Given the description of an element on the screen output the (x, y) to click on. 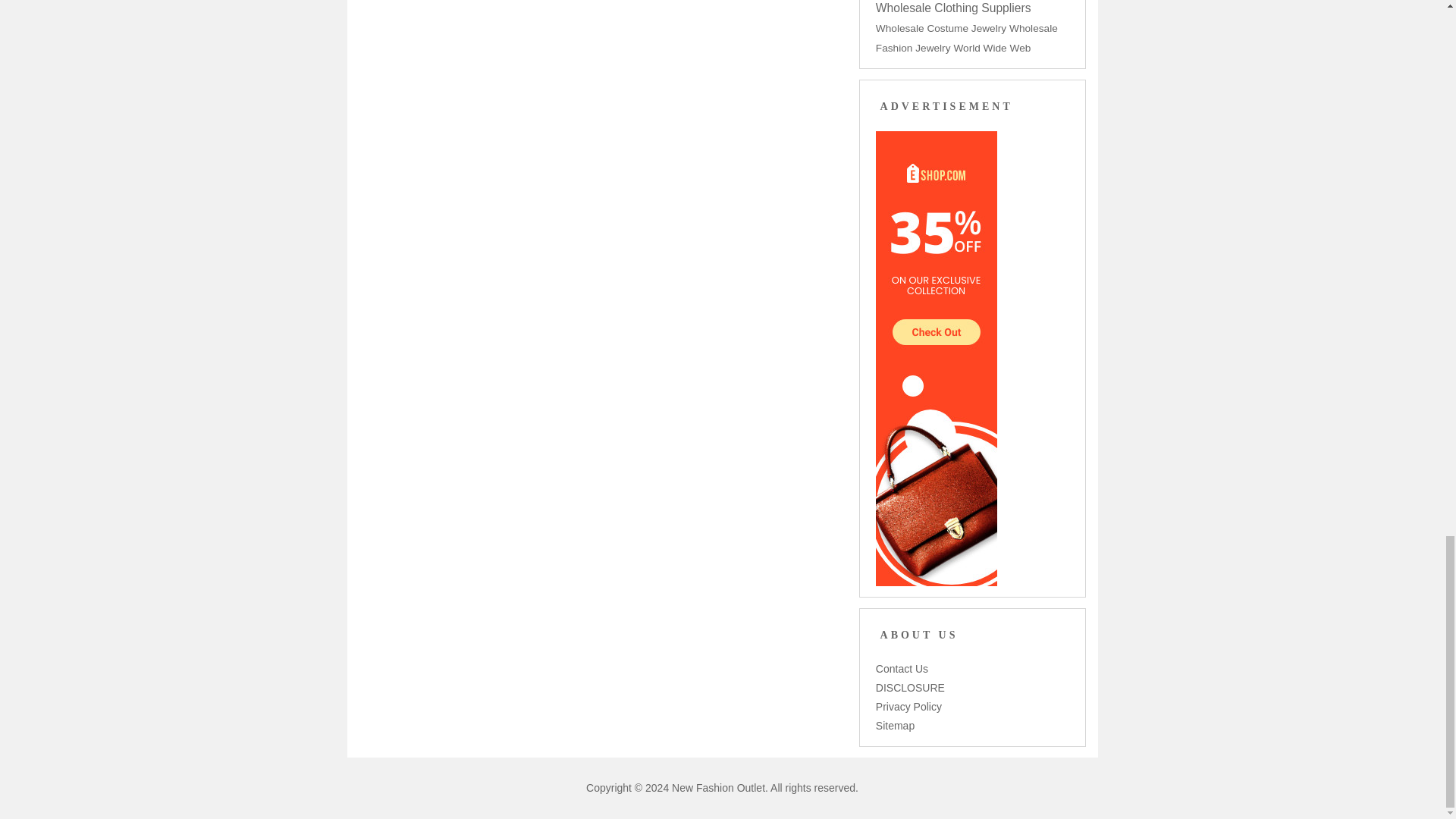
New Fashion Outlet (718, 787)
